Given the description of an element on the screen output the (x, y) to click on. 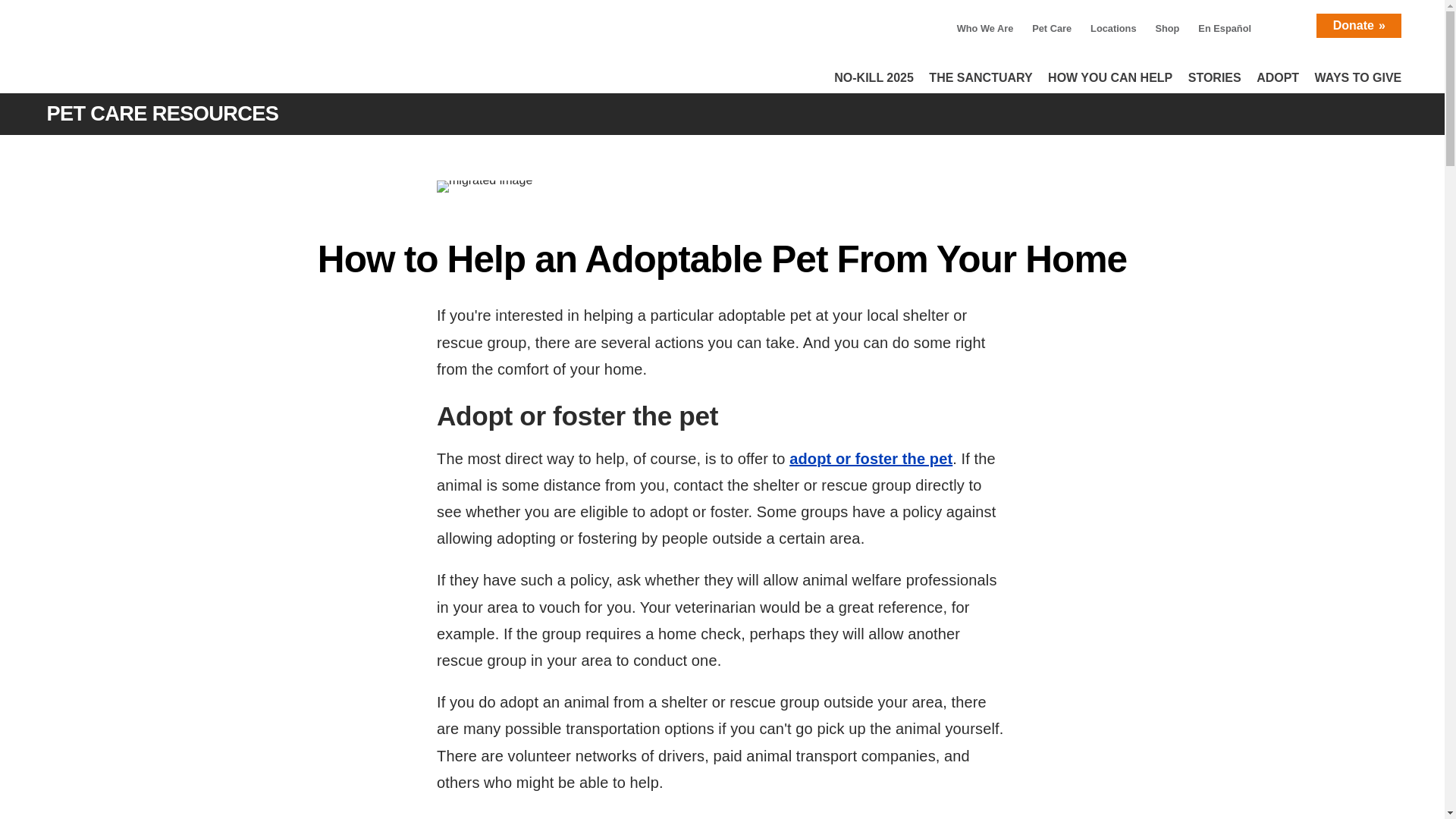
Search Icon (1288, 23)
Home (187, 51)
STORIES (1214, 72)
ADOPT (1277, 72)
HOW YOU CAN HELP (1109, 72)
THE SANCTUARY (980, 72)
Pet Care (1051, 28)
Who We Are (984, 28)
Search Icon (1288, 23)
